Given the description of an element on the screen output the (x, y) to click on. 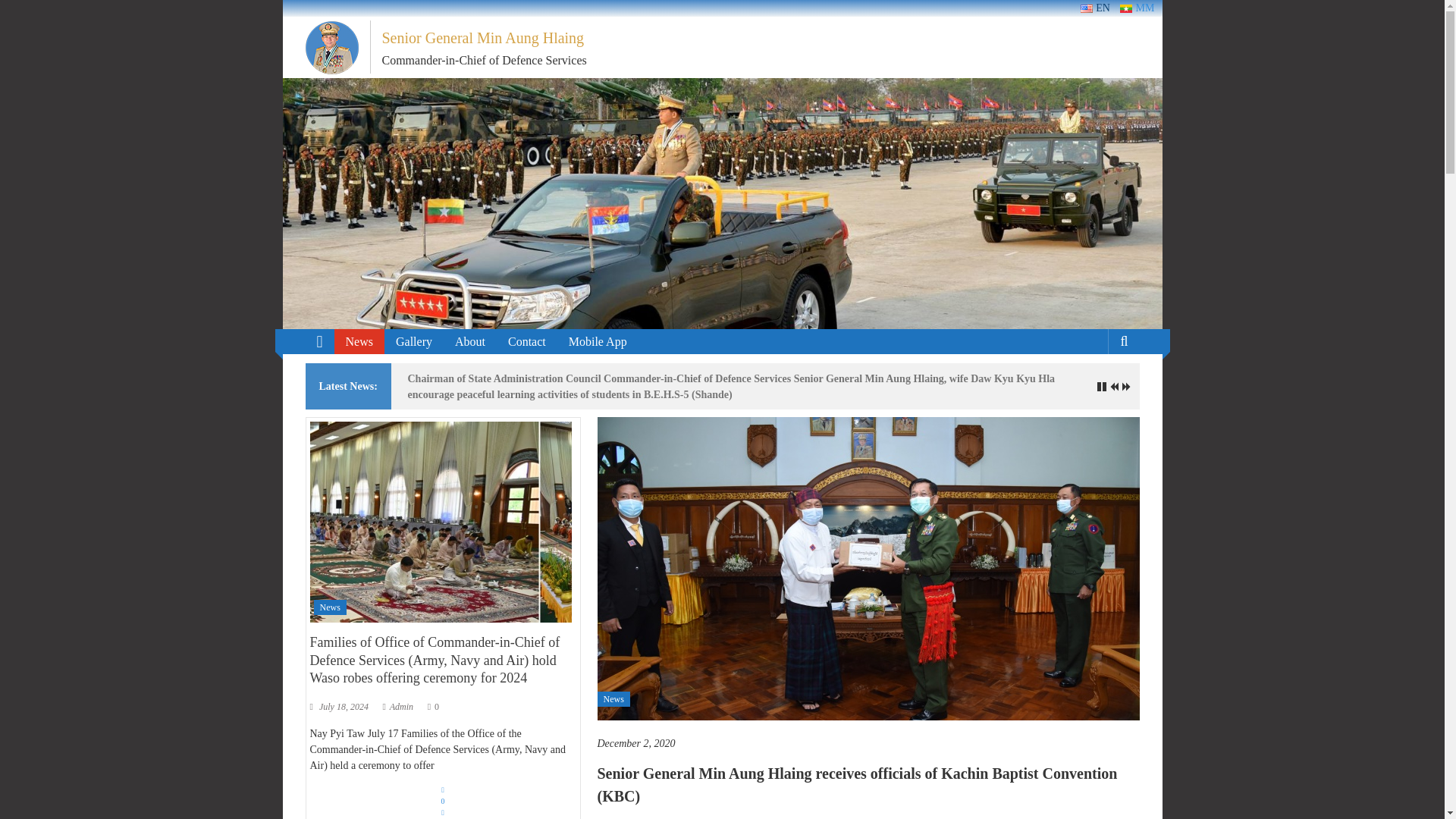
Contact (527, 341)
Senior General Min Aung Hlaing (318, 341)
Republic of the Union of Myanmar (294, 8)
8:46 am (868, 743)
About (469, 341)
Mobile App (598, 341)
News (613, 698)
MM (1125, 8)
EN (1086, 8)
Senior General Min Aung Hlaing (483, 37)
Gallery (414, 341)
MM (1136, 7)
December 2, 2020 (868, 743)
News (359, 341)
